Given the description of an element on the screen output the (x, y) to click on. 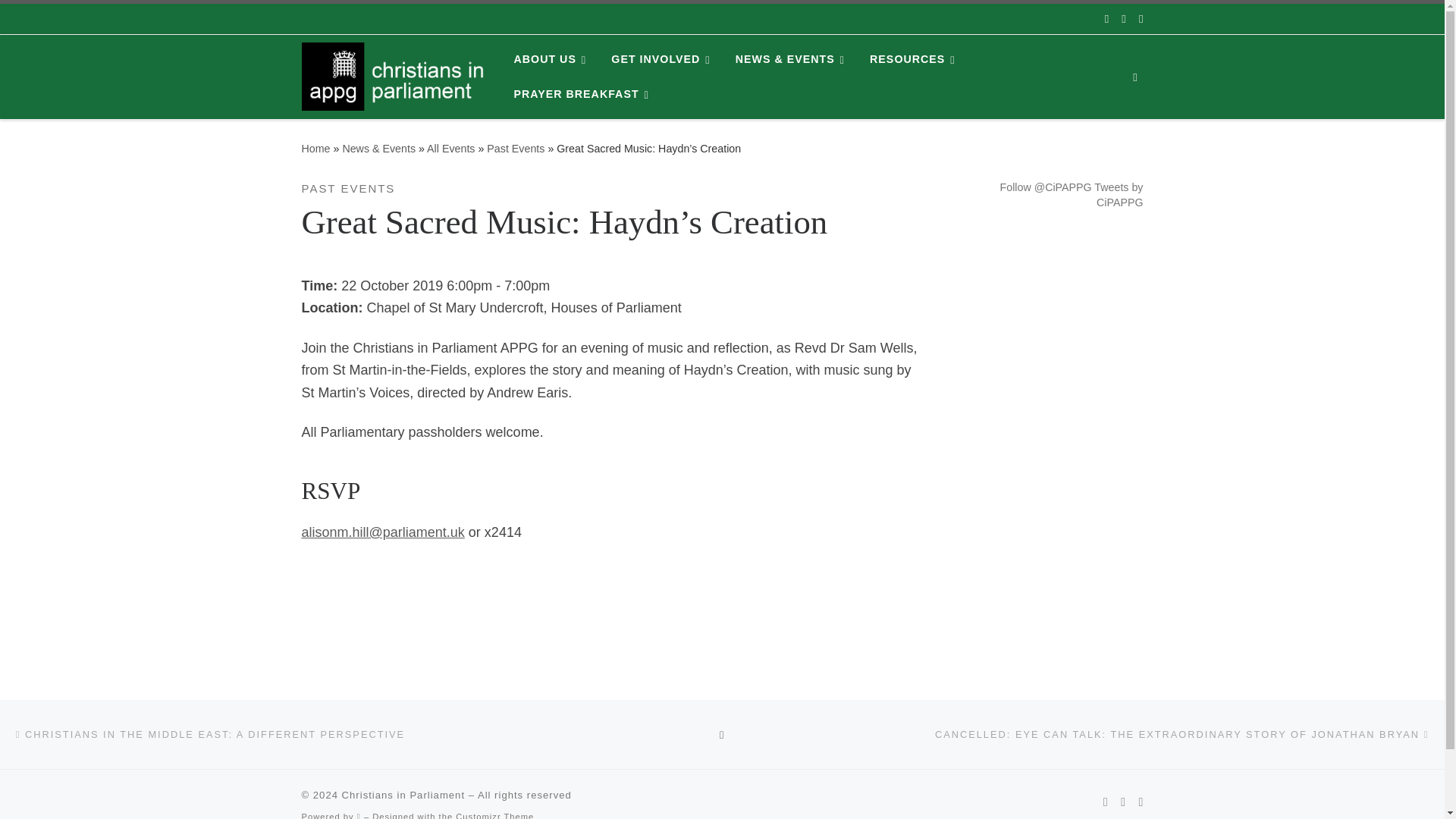
RESOURCES (915, 58)
PRAYER BREAKFAST (583, 94)
Christians in Parliament (315, 148)
Customizr Theme (494, 815)
All Events (450, 148)
Christians in Parliament (403, 794)
GET INVOLVED (663, 58)
ABOUT US (552, 58)
Past Events (515, 148)
View all posts in Past Events (348, 188)
